Given the description of an element on the screen output the (x, y) to click on. 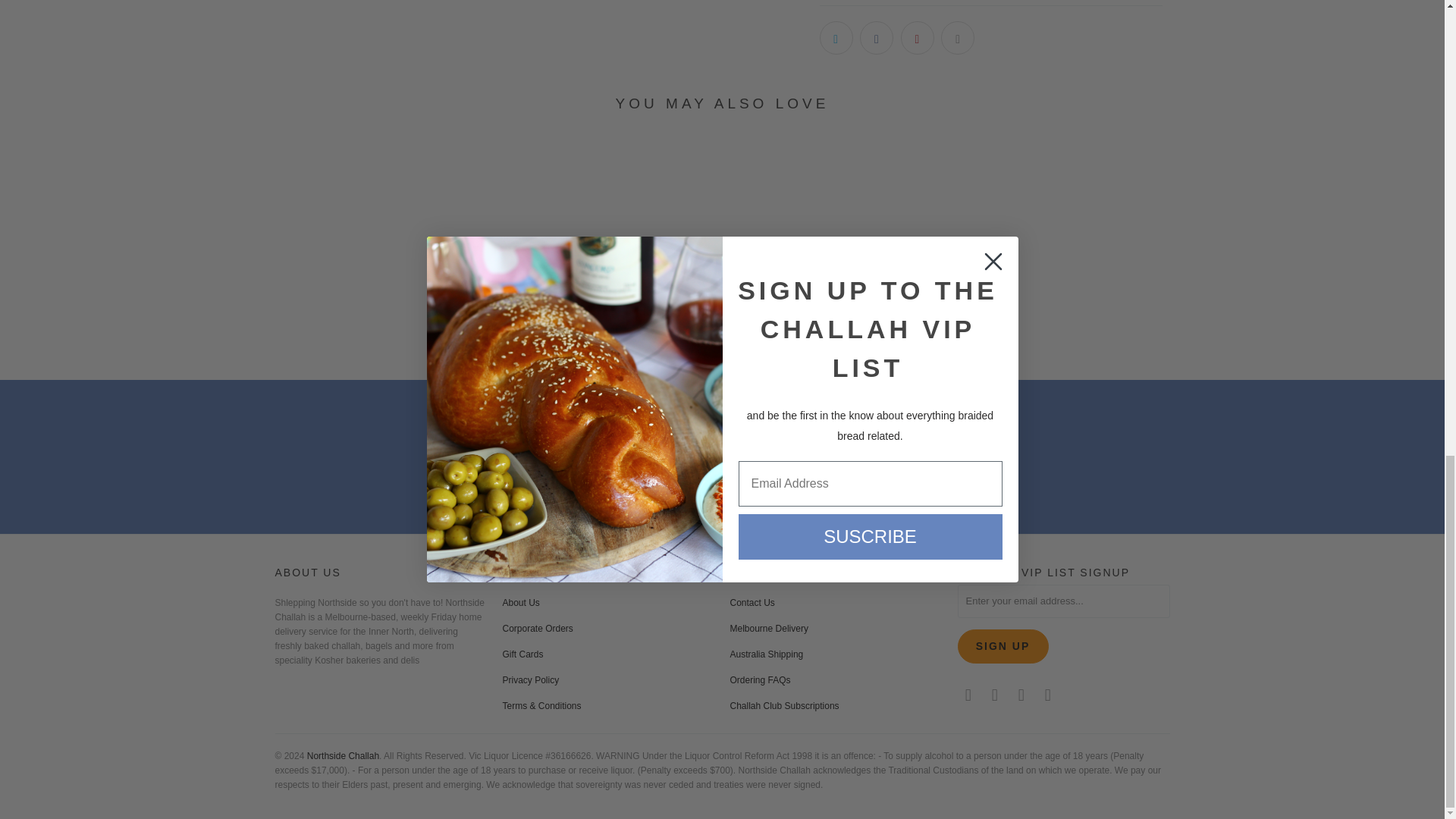
Sign Up (1002, 646)
Sign Up (842, 482)
Share this on Twitter (834, 37)
Share this on Facebook (876, 37)
